Given the description of an element on the screen output the (x, y) to click on. 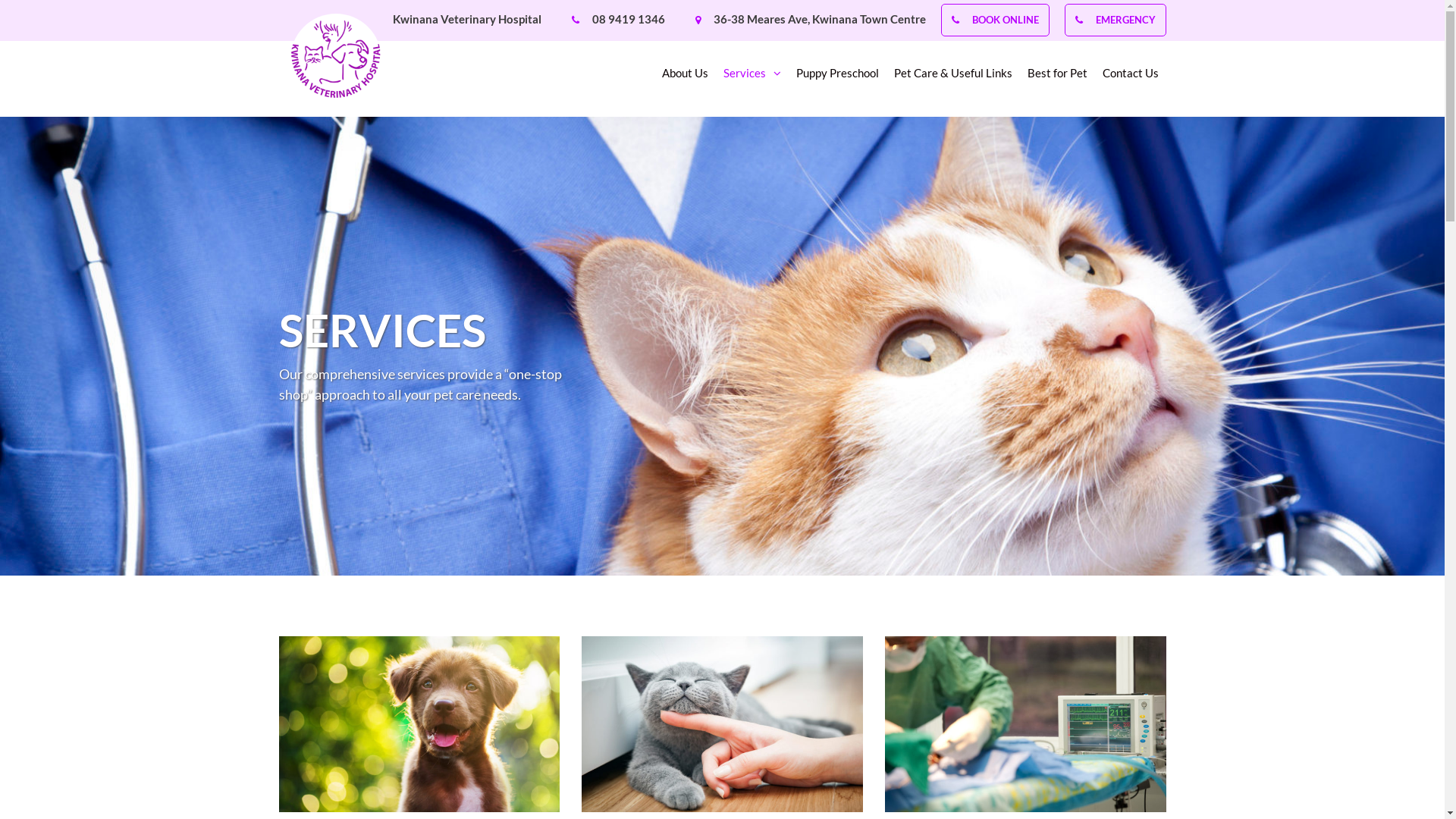
EMERGENCY Element type: text (1124, 19)
Kwinana Veterinary Hospital Element type: hover (334, 58)
Services Element type: text (752, 76)
Contact Us Element type: text (1130, 76)
BOOK ONLINE Element type: text (1005, 19)
About Us Element type: text (684, 76)
08 9419 1346 Element type: text (627, 18)
Pet Care & Useful Links Element type: text (952, 76)
Kwinana Veterinary Hospital Element type: text (466, 18)
Best for Pet Element type: text (1056, 76)
36-38 Meares Ave, Kwinana Town Centre Element type: text (818, 18)
Puppy Preschool Element type: text (837, 76)
